Given the description of an element on the screen output the (x, y) to click on. 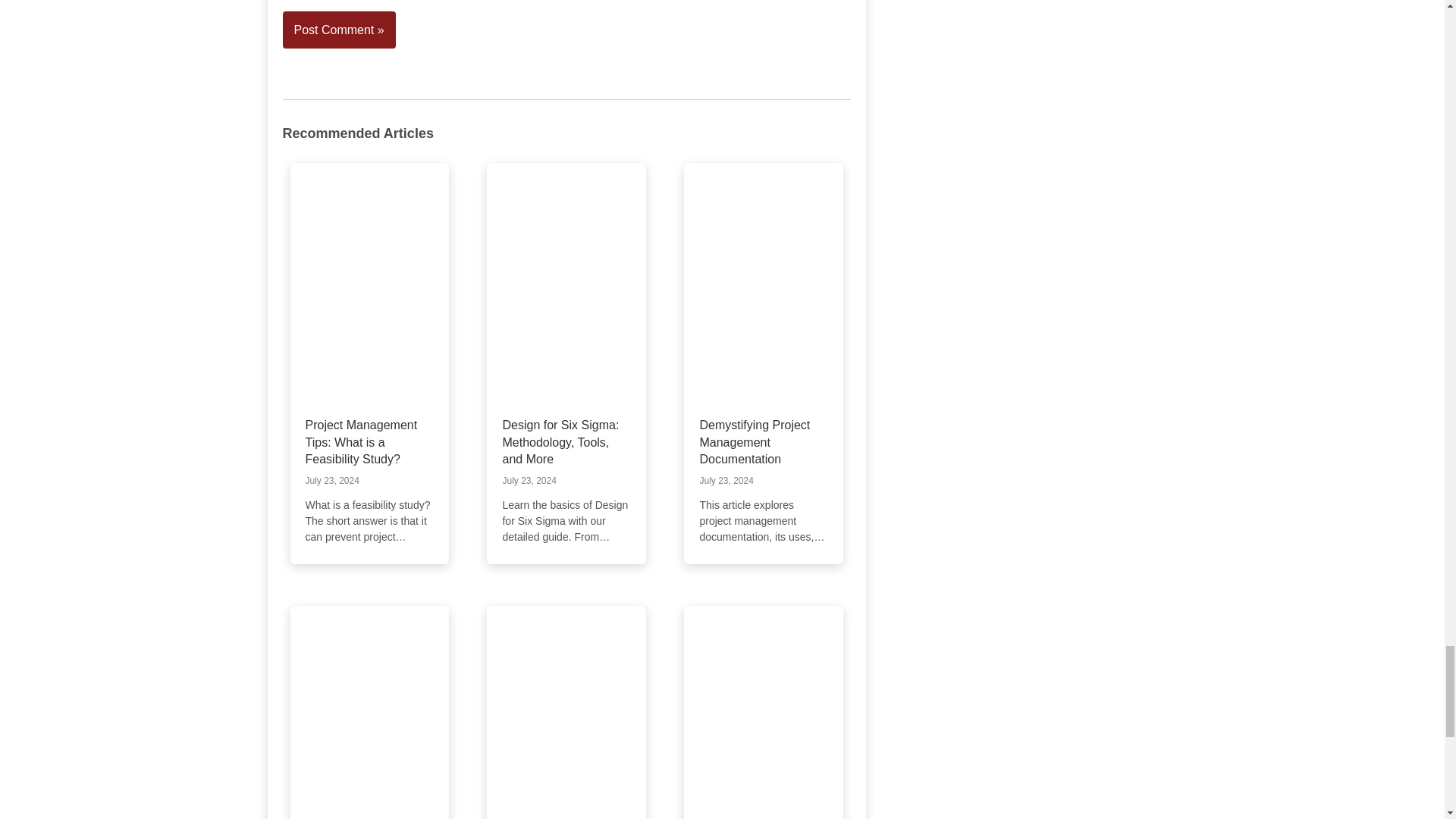
Project Management Tips: What is a Feasibility Study? (360, 442)
Design for Six Sigma: Methodology, Tools, and More (560, 442)
Demystifying Project Management Documentation (753, 442)
